Given the description of an element on the screen output the (x, y) to click on. 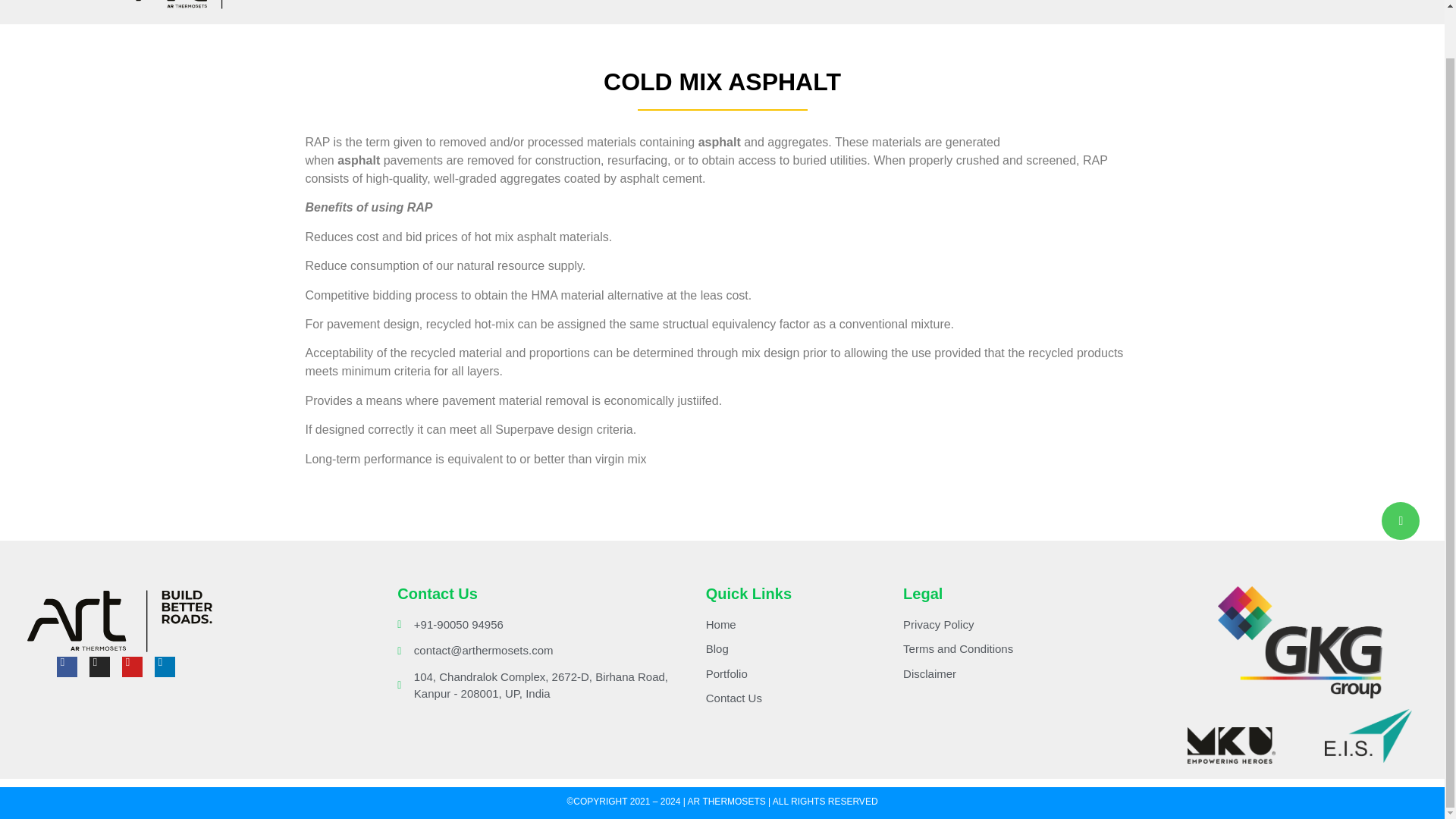
Home (1007, 8)
About Us (1068, 8)
Products (1142, 8)
